Given the description of an element on the screen output the (x, y) to click on. 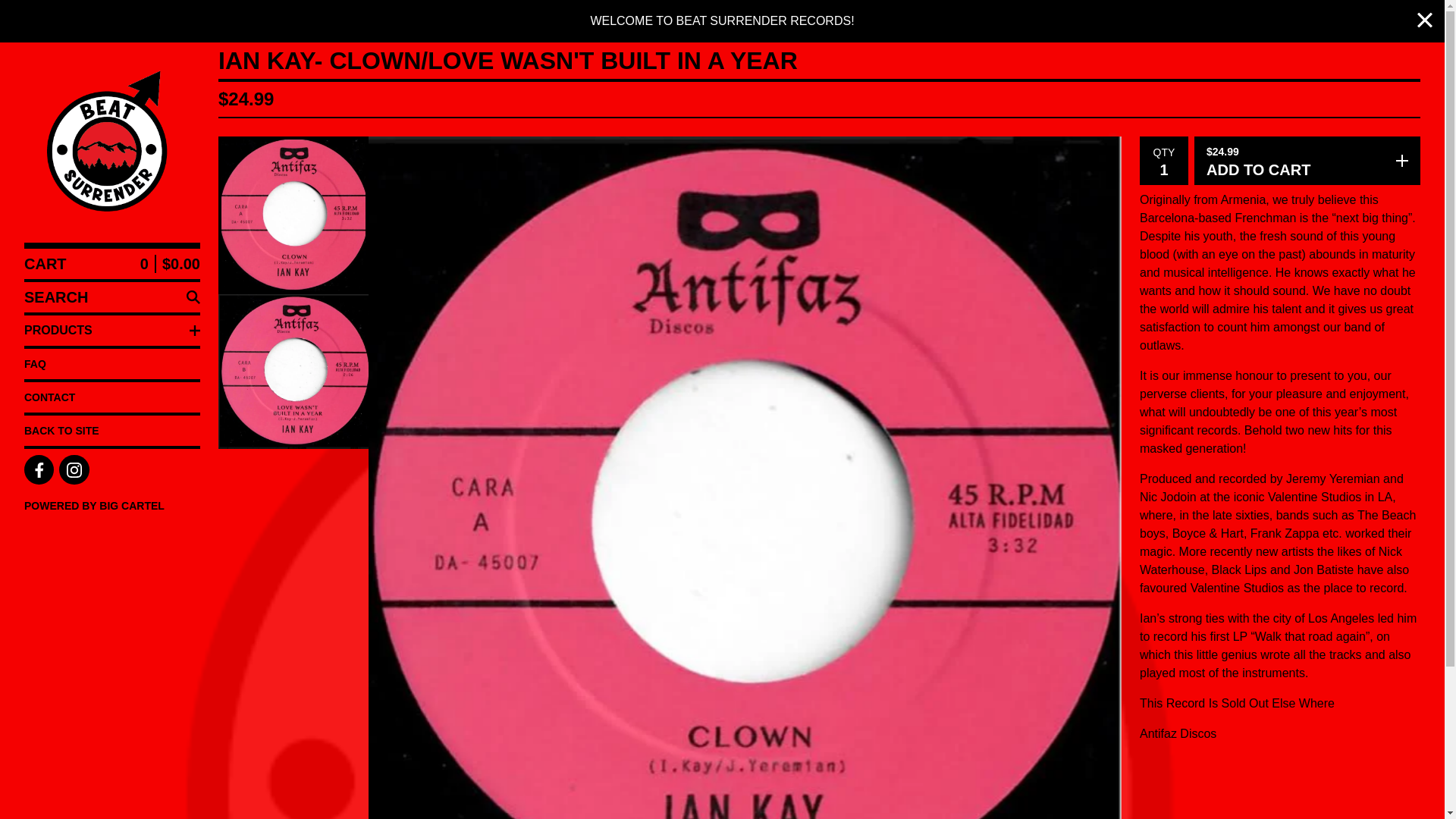
Home (112, 142)
FAQ (112, 363)
PRODUCTS (112, 330)
BACK TO SITE (112, 430)
1 (1164, 169)
POWERED BY BIG CARTEL (112, 505)
View cart (112, 263)
CONTACT (112, 397)
